Given the description of an element on the screen output the (x, y) to click on. 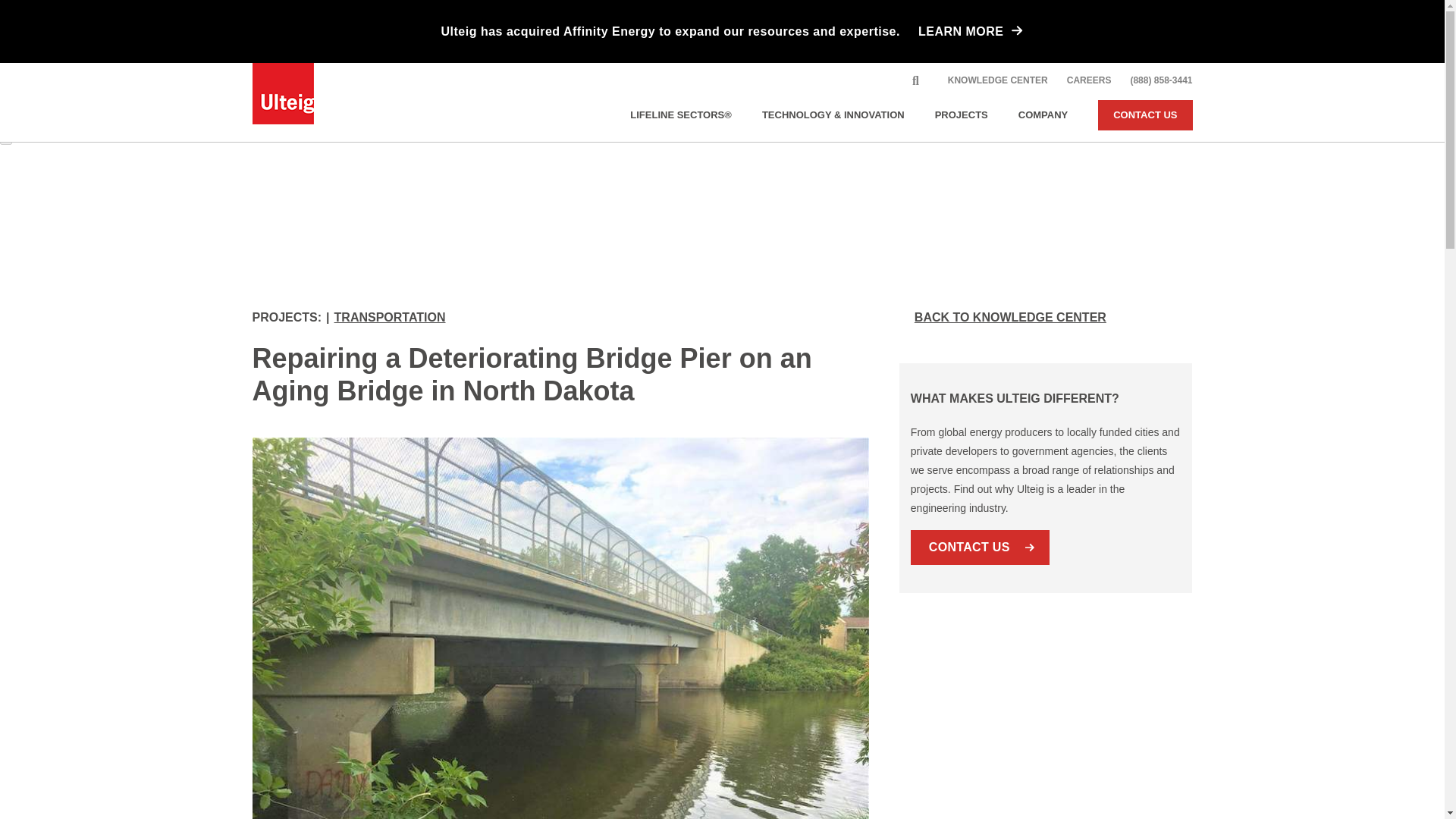
CONTACT US (1144, 114)
KNOWLEDGE CENTER (997, 80)
LEARN MORE (951, 31)
Ulteig (282, 92)
COMPANY (1043, 114)
CAREERS (1089, 80)
PROJECTS (961, 114)
Transportation (389, 317)
